Given the description of an element on the screen output the (x, y) to click on. 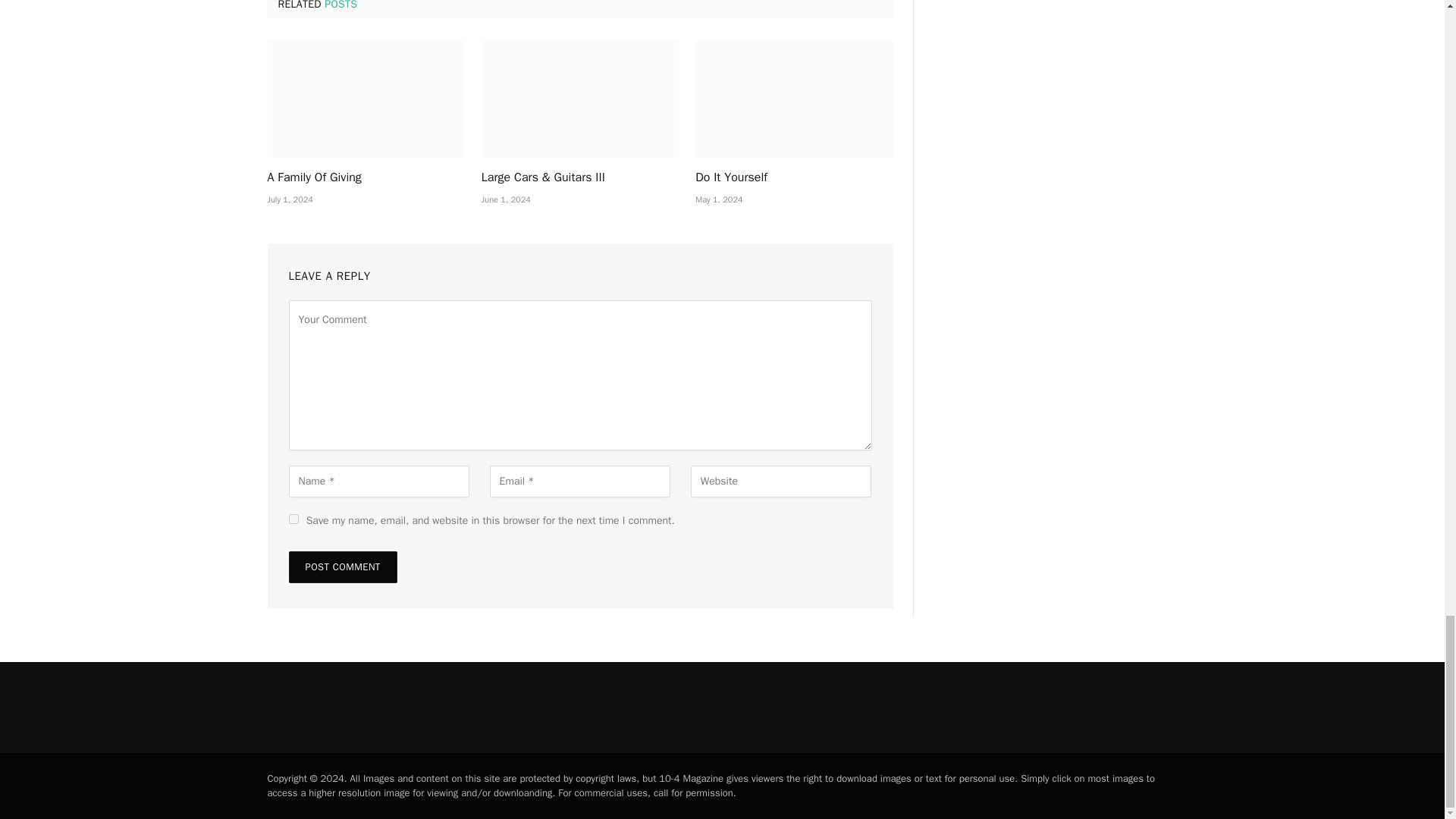
Post Comment (342, 567)
yes (293, 519)
